Given the description of an element on the screen output the (x, y) to click on. 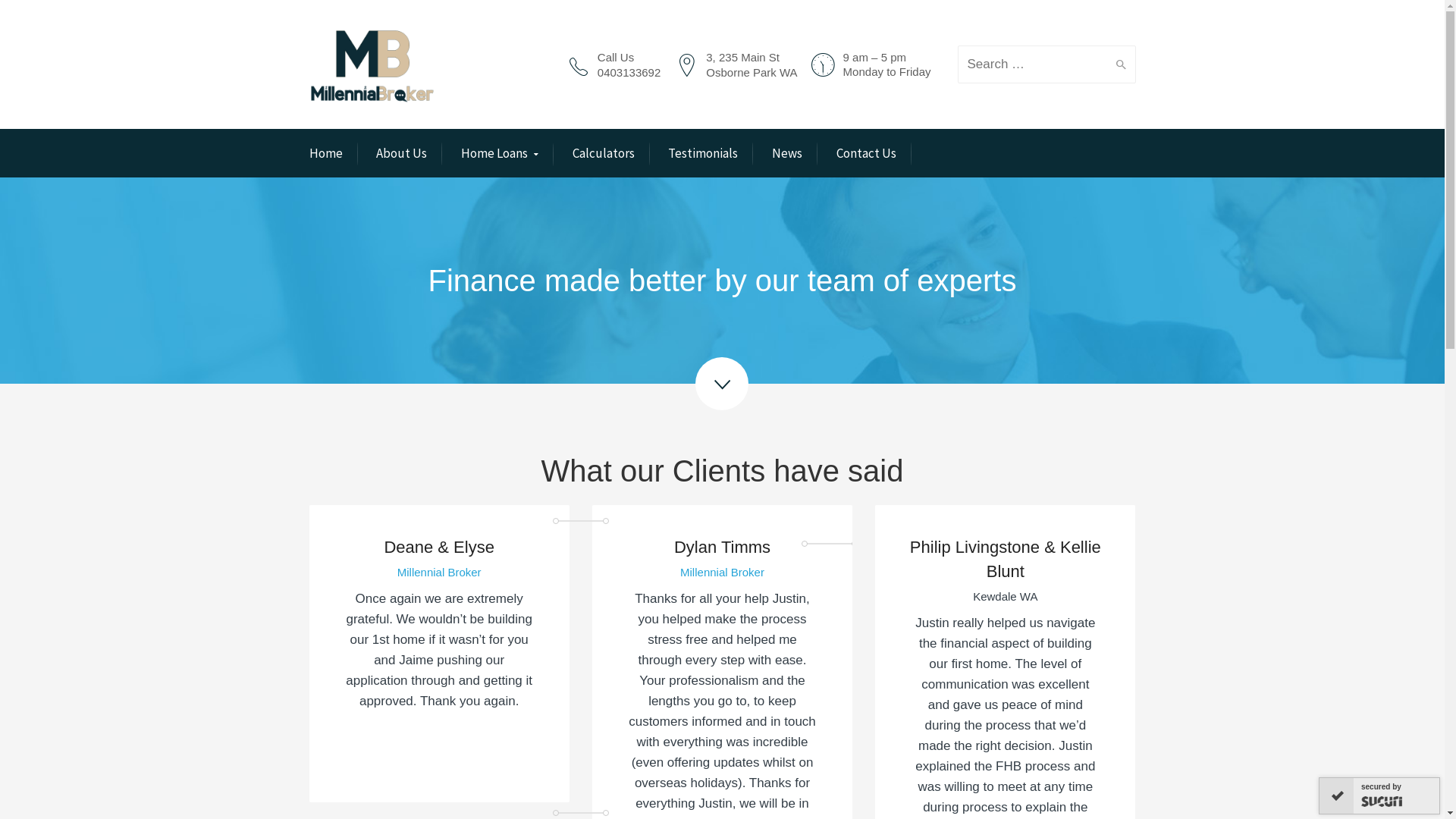
Home Loans Element type: text (499, 154)
Testimonials Element type: text (702, 153)
Home Element type: text (325, 153)
About Us Element type: text (401, 153)
Calculators Element type: text (603, 153)
News Element type: text (786, 153)
Search Element type: text (1117, 64)
Contact Us Element type: text (866, 153)
